Given the description of an element on the screen output the (x, y) to click on. 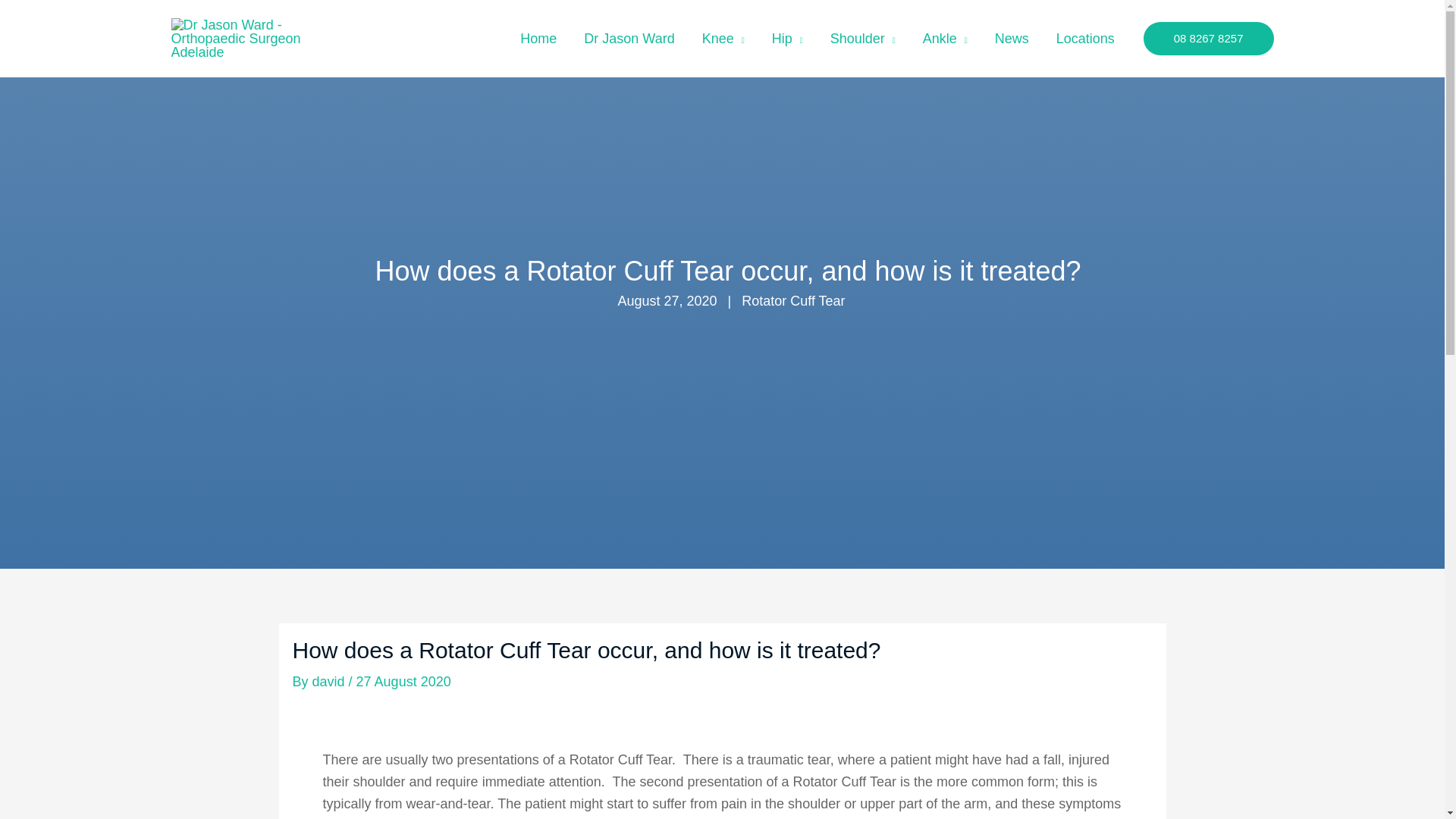
Knee (723, 38)
Shoulder (862, 38)
Dr Jason Ward (628, 38)
View all posts by david (331, 681)
